Given the description of an element on the screen output the (x, y) to click on. 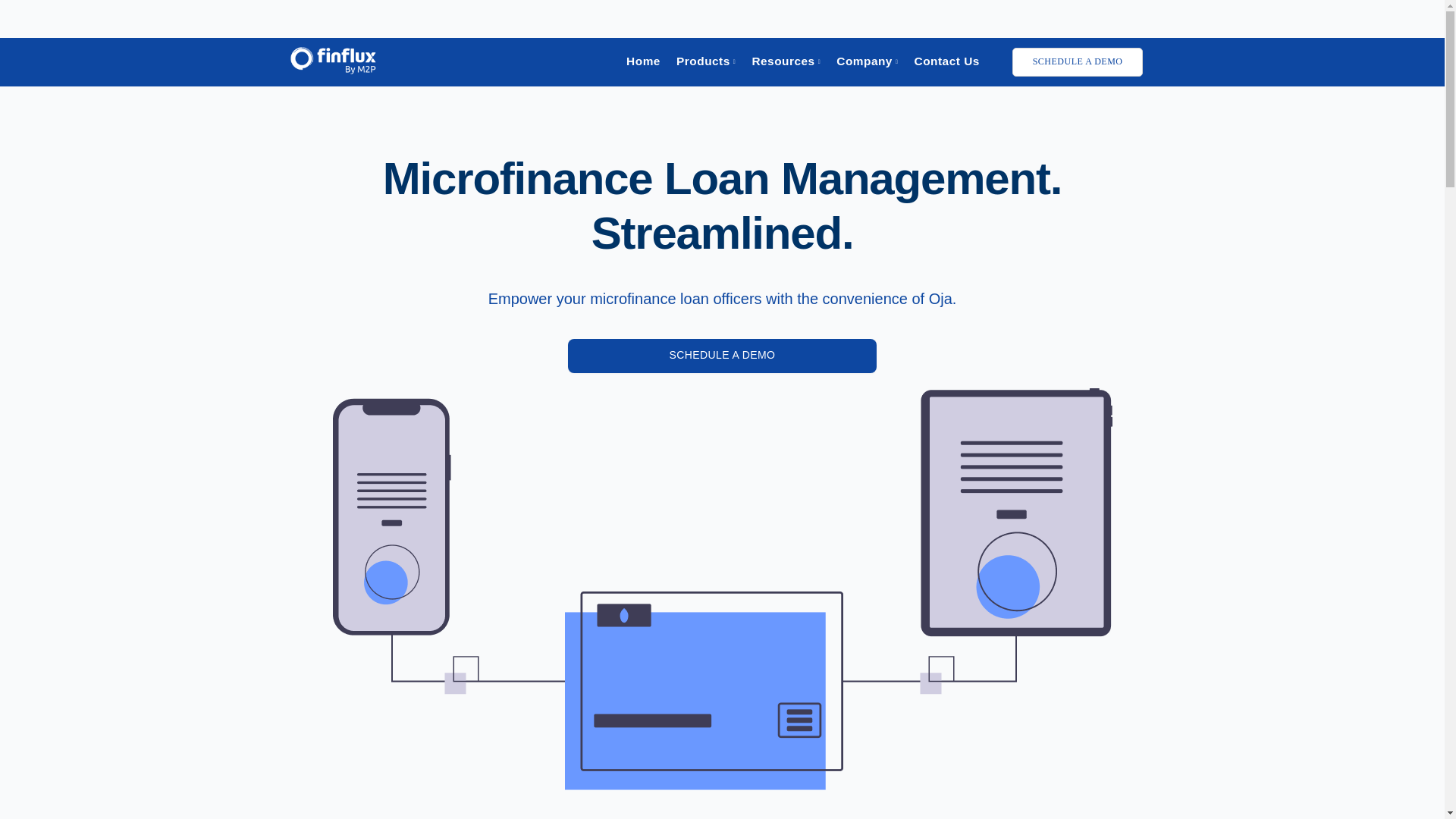
SCHEDULE A DEMO (1076, 61)
Contact Us (946, 60)
Home (643, 60)
SCHEDULE A DEMO (721, 356)
SCHEDULE A DEMO (721, 354)
